Given the description of an element on the screen output the (x, y) to click on. 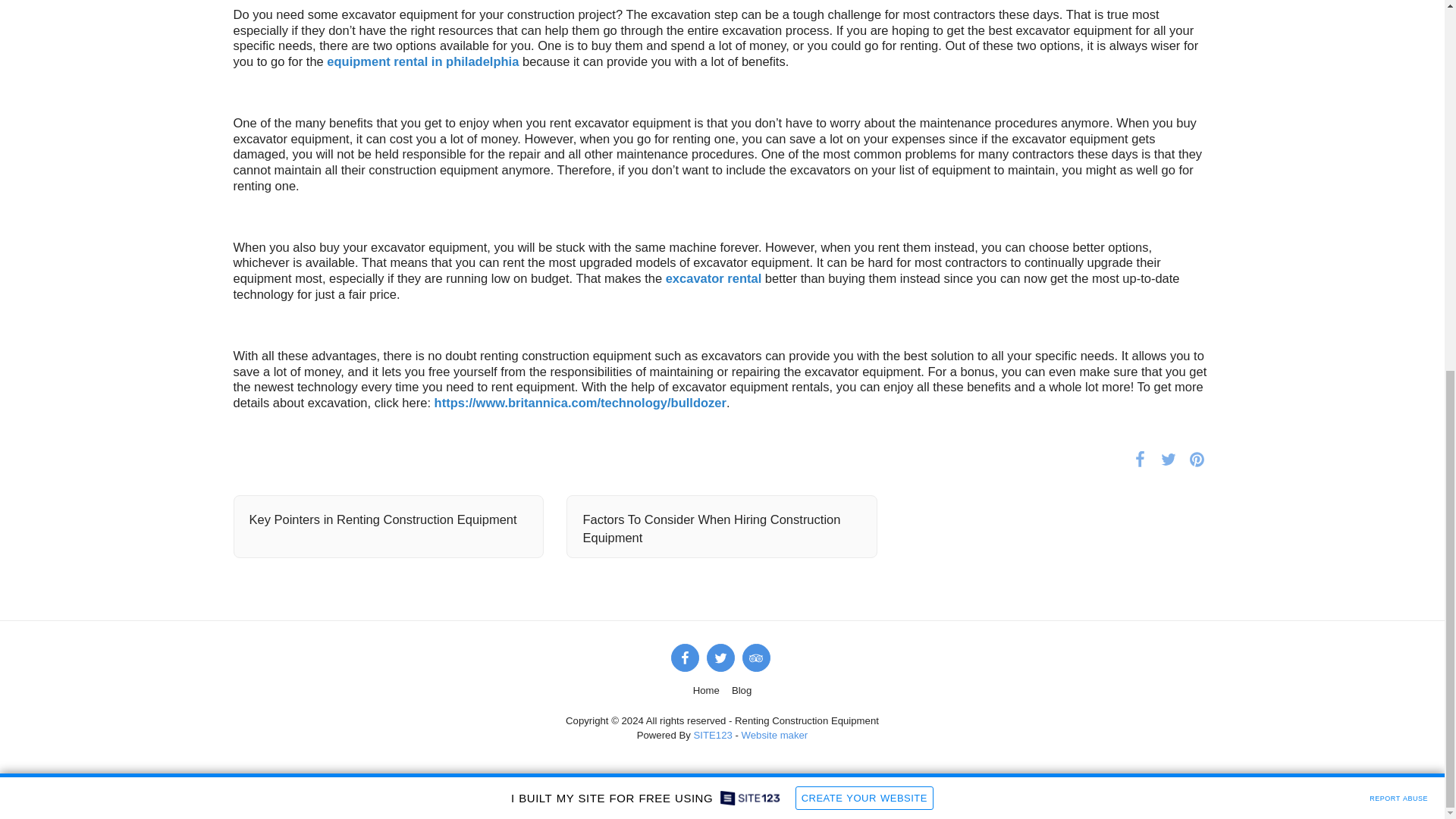
Tweet (1168, 458)
Key Pointers in Renting Construction Equipment (387, 520)
Home (706, 690)
Website maker (774, 735)
SITE123 (712, 735)
Share on Facebook (1139, 458)
equipment rental in philadelphia (422, 60)
